Given the description of an element on the screen output the (x, y) to click on. 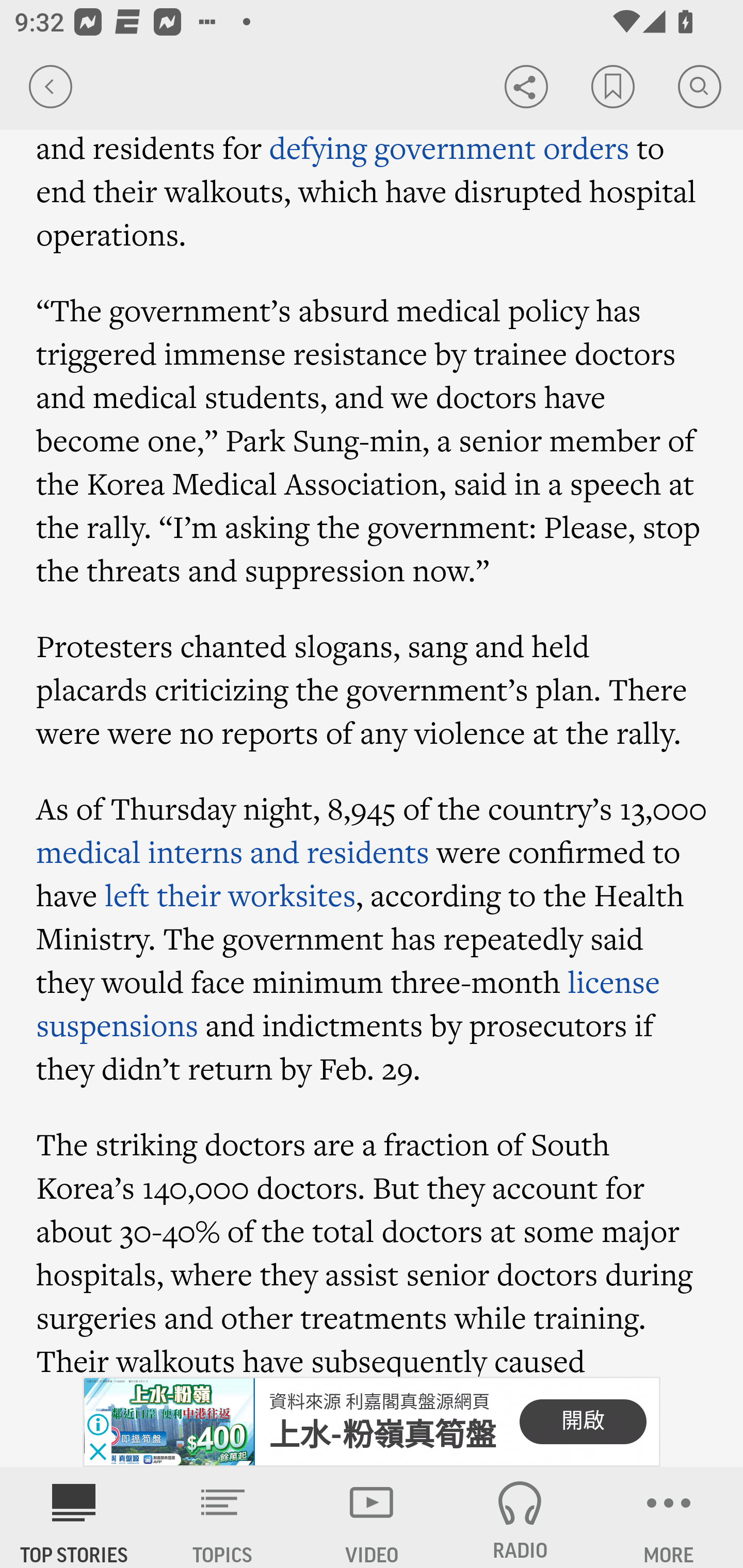
defying government orders (448, 148)
medical interns and residents (232, 852)
left their worksites (229, 895)
license suspensions (348, 1003)
資料來源 利嘉閣真盤源網頁 (379, 1402)
開啟 (582, 1421)
上水-粉嶺真筍盤 (382, 1434)
AP News TOP STORIES (74, 1517)
TOPICS (222, 1517)
VIDEO (371, 1517)
RADIO (519, 1517)
MORE (668, 1517)
